Given the description of an element on the screen output the (x, y) to click on. 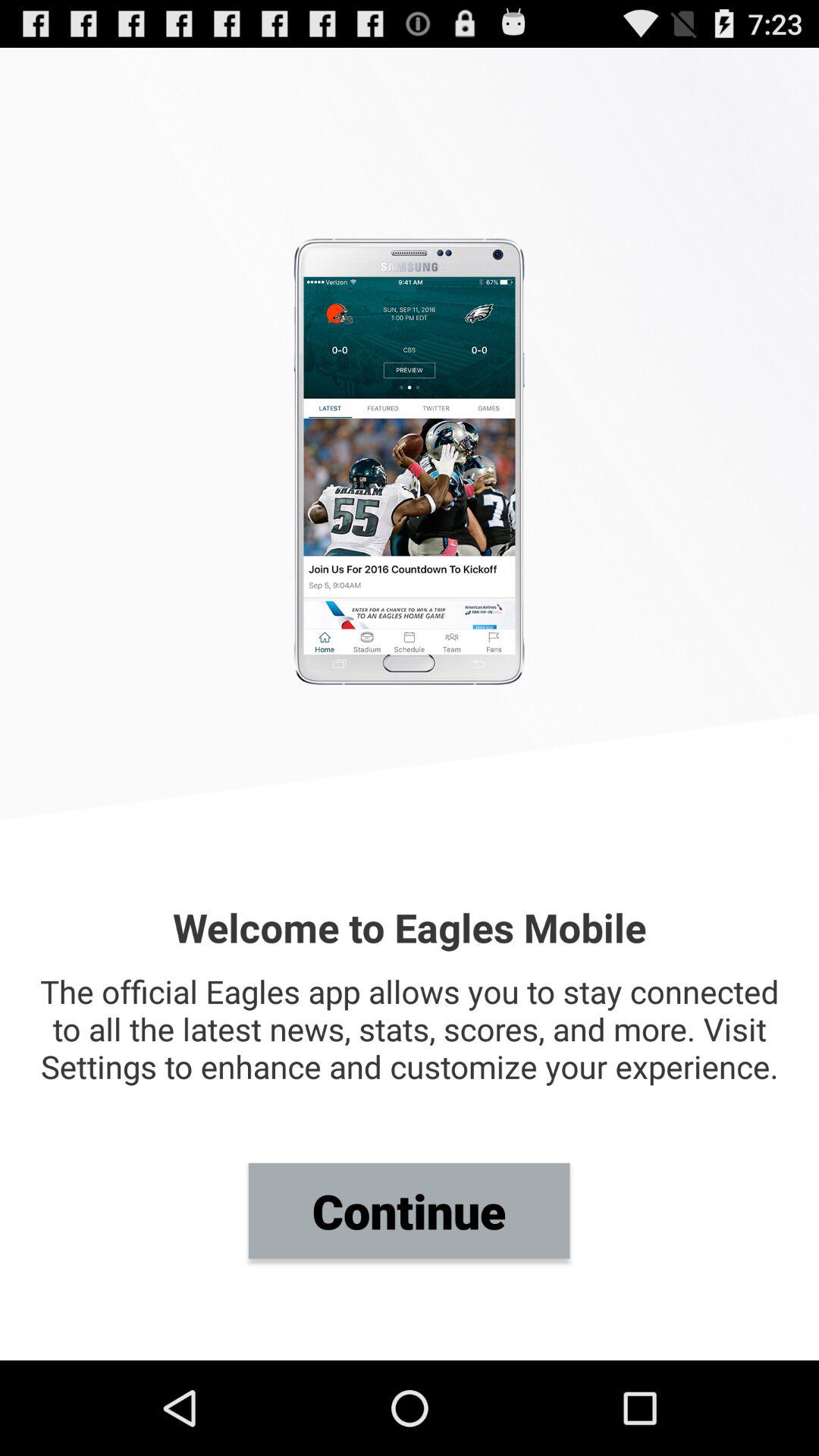
jump to continue item (408, 1210)
